Given the description of an element on the screen output the (x, y) to click on. 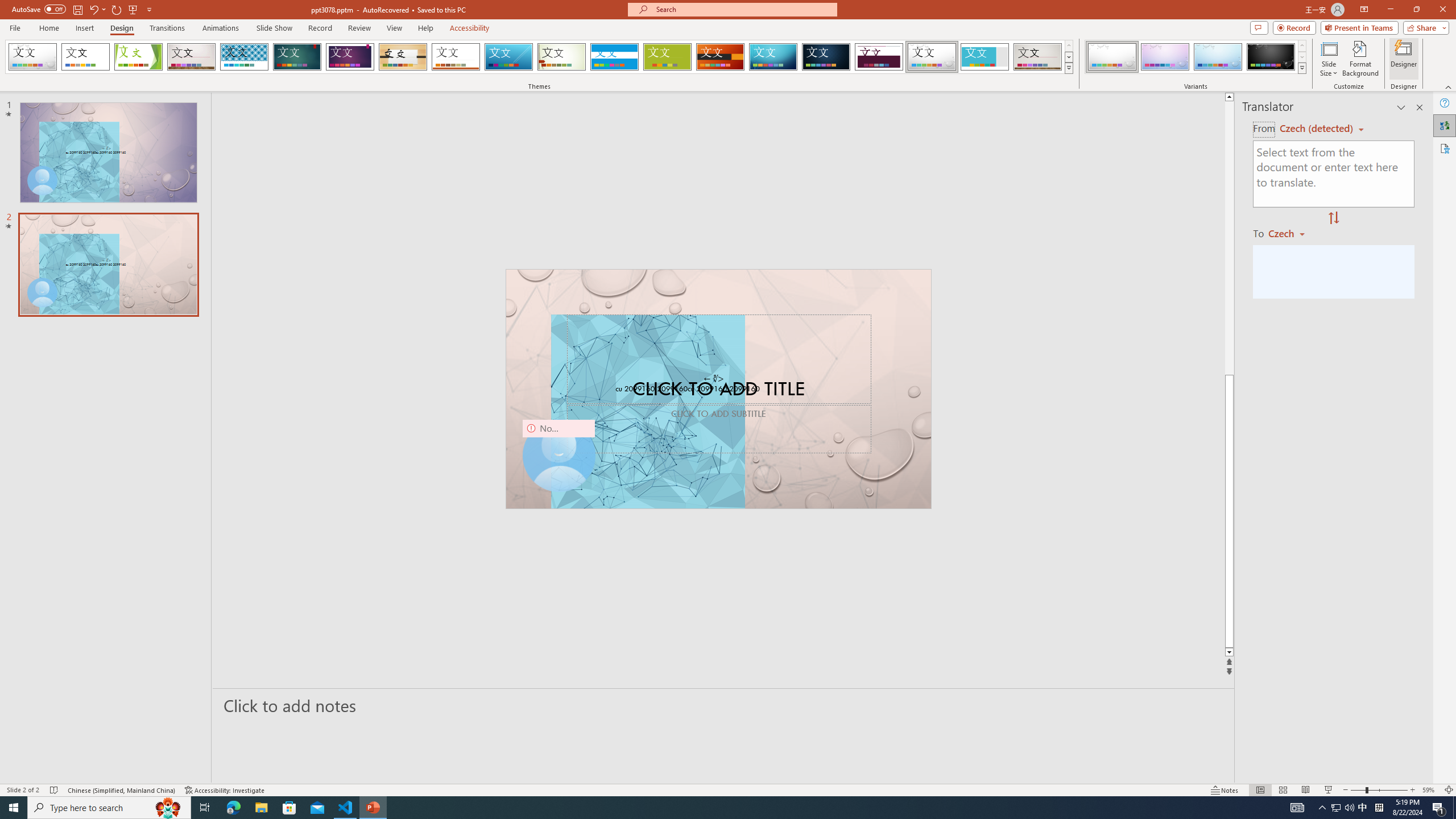
Office Theme (85, 56)
Themes (1068, 67)
Camera 9, No camera detected. (558, 455)
Ion (296, 56)
